Given the description of an element on the screen output the (x, y) to click on. 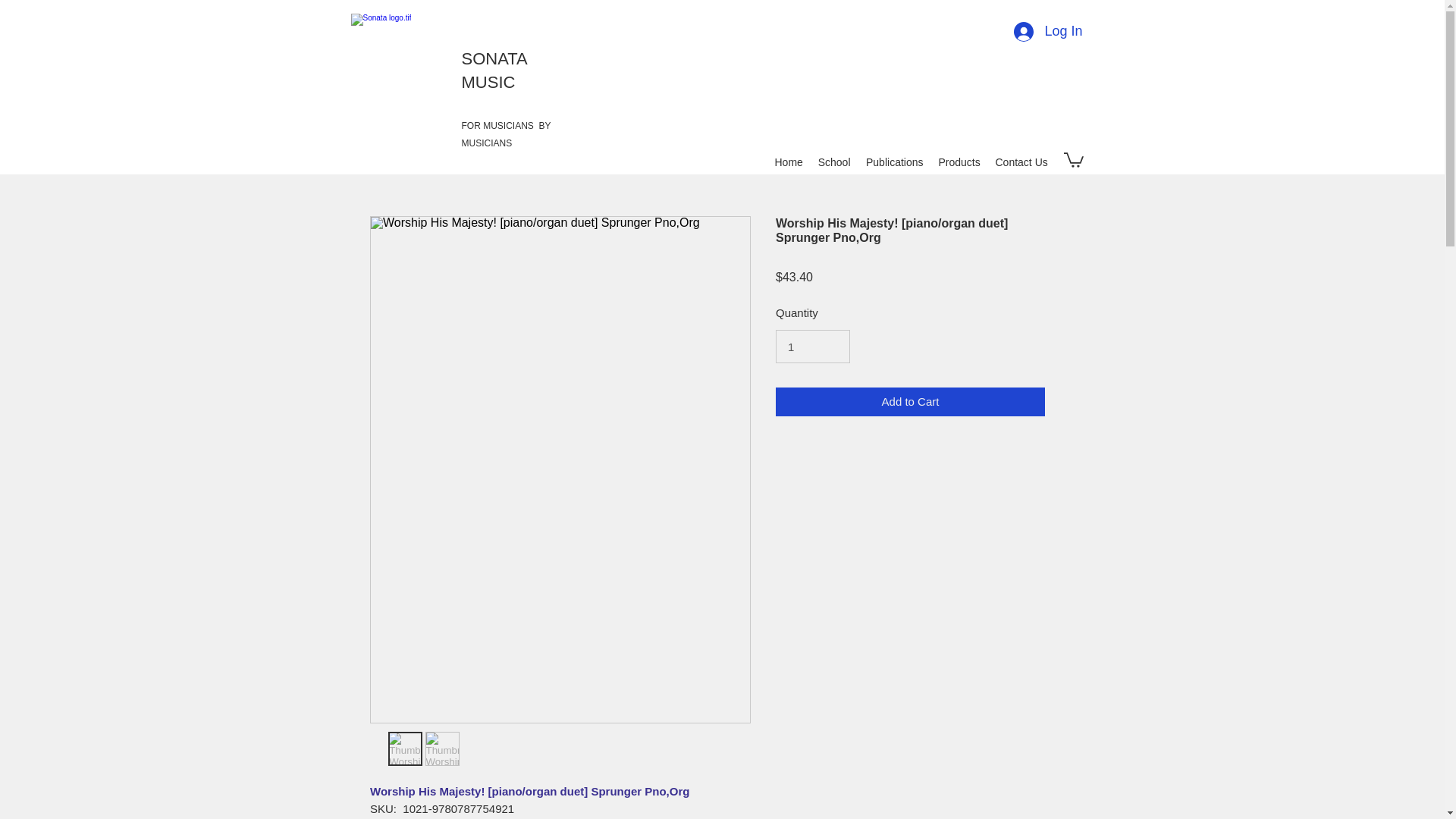
Contact Us (1020, 161)
Products (959, 161)
Log In (1048, 31)
Publications (895, 161)
School (833, 161)
Home (788, 161)
1 (813, 346)
Add to Cart (910, 401)
